Given the description of an element on the screen output the (x, y) to click on. 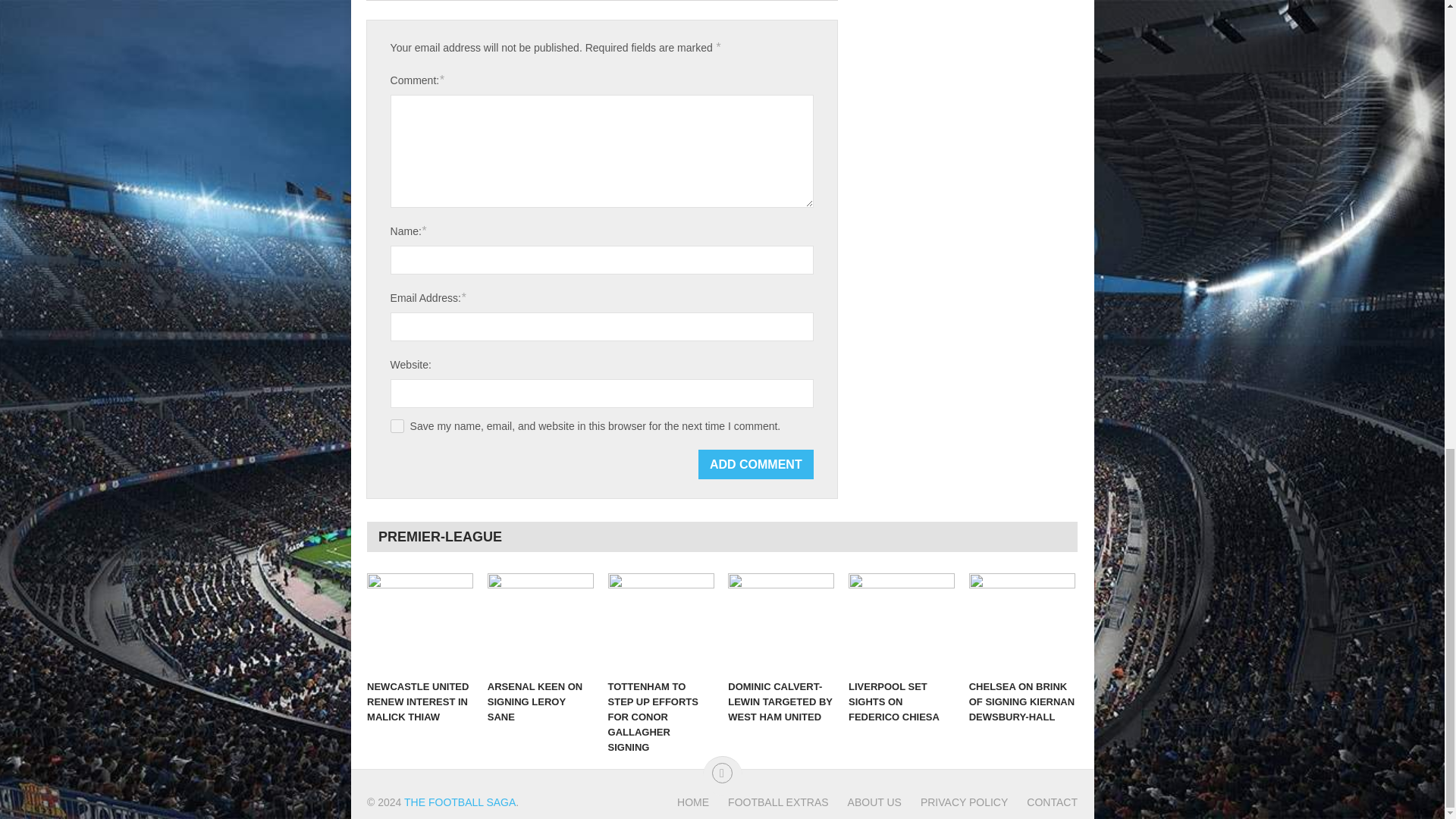
DOMINIC CALVERT-LEWIN TARGETED BY WEST HAM UNITED (781, 622)
TOTTENHAM TO STEP UP EFFORTS FOR CONOR GALLAGHER SIGNING (661, 622)
ARSENAL KEEN ON SIGNING LEROY SANE (540, 622)
Arsenal keen on signing Leroy Sane (540, 622)
Add Comment (755, 464)
Newcastle United renew interest in Malick Thiaw (419, 622)
Add Comment (755, 464)
yes (397, 426)
LIVERPOOL SET SIGHTS ON FEDERICO CHIESA (901, 622)
NEWCASTLE UNITED RENEW INTEREST IN MALICK THIAW (419, 622)
